Given the description of an element on the screen output the (x, y) to click on. 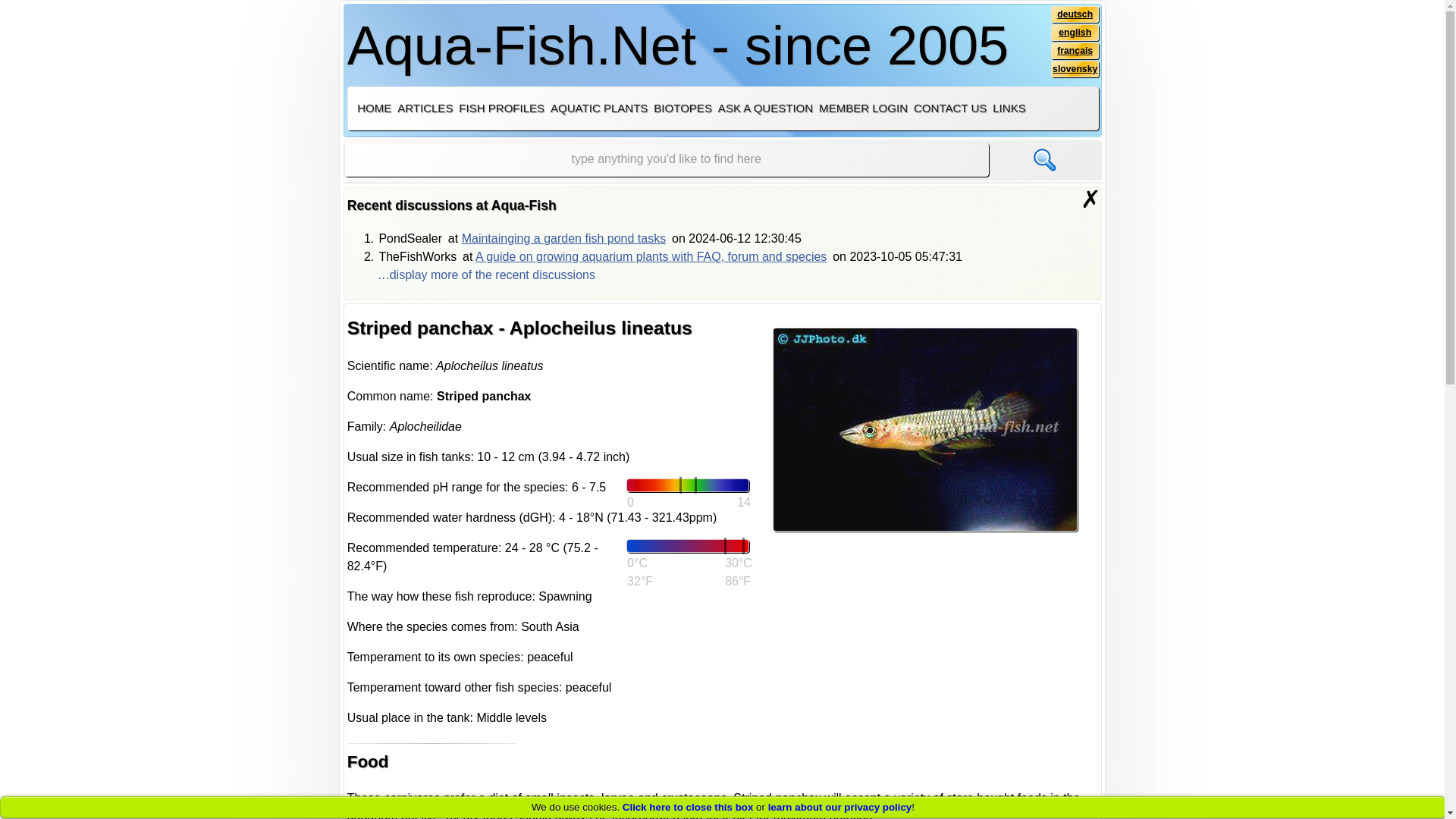
Maintainging a garden fish pond tasks (563, 237)
The most common biotope aquariums (682, 107)
FISH PROFILES (501, 107)
Lists all articles (424, 107)
BIOTOPES (682, 107)
HOME (373, 107)
Homepage of Aqua-Fish.Net (373, 107)
Profiles of freshwater aquarium fish (501, 107)
AQUATIC PLANTS (598, 107)
Profiles of aquatic plants for freshwater aquariums (598, 107)
